Given the description of an element on the screen output the (x, y) to click on. 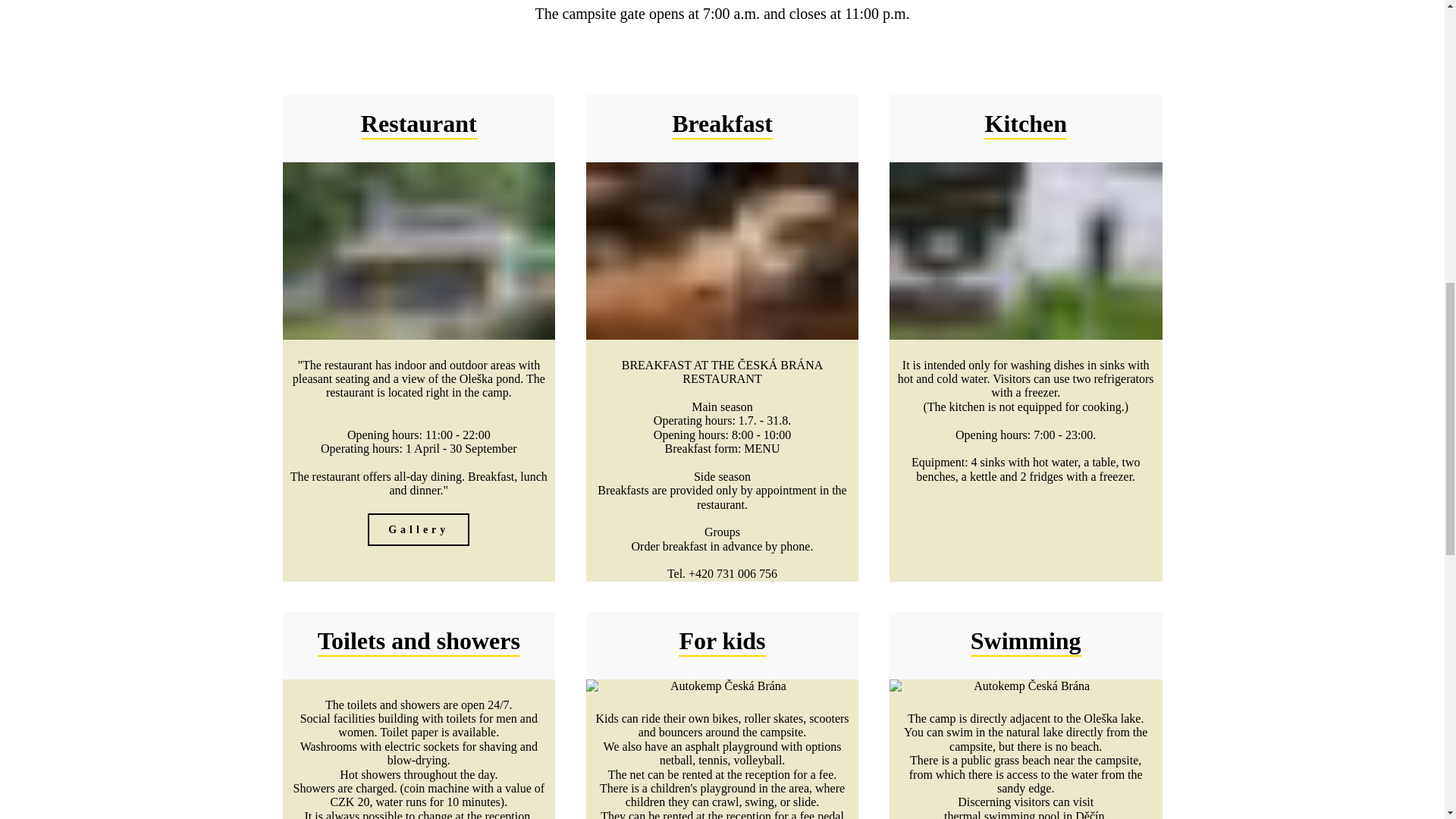
Gallery (418, 529)
